Given the description of an element on the screen output the (x, y) to click on. 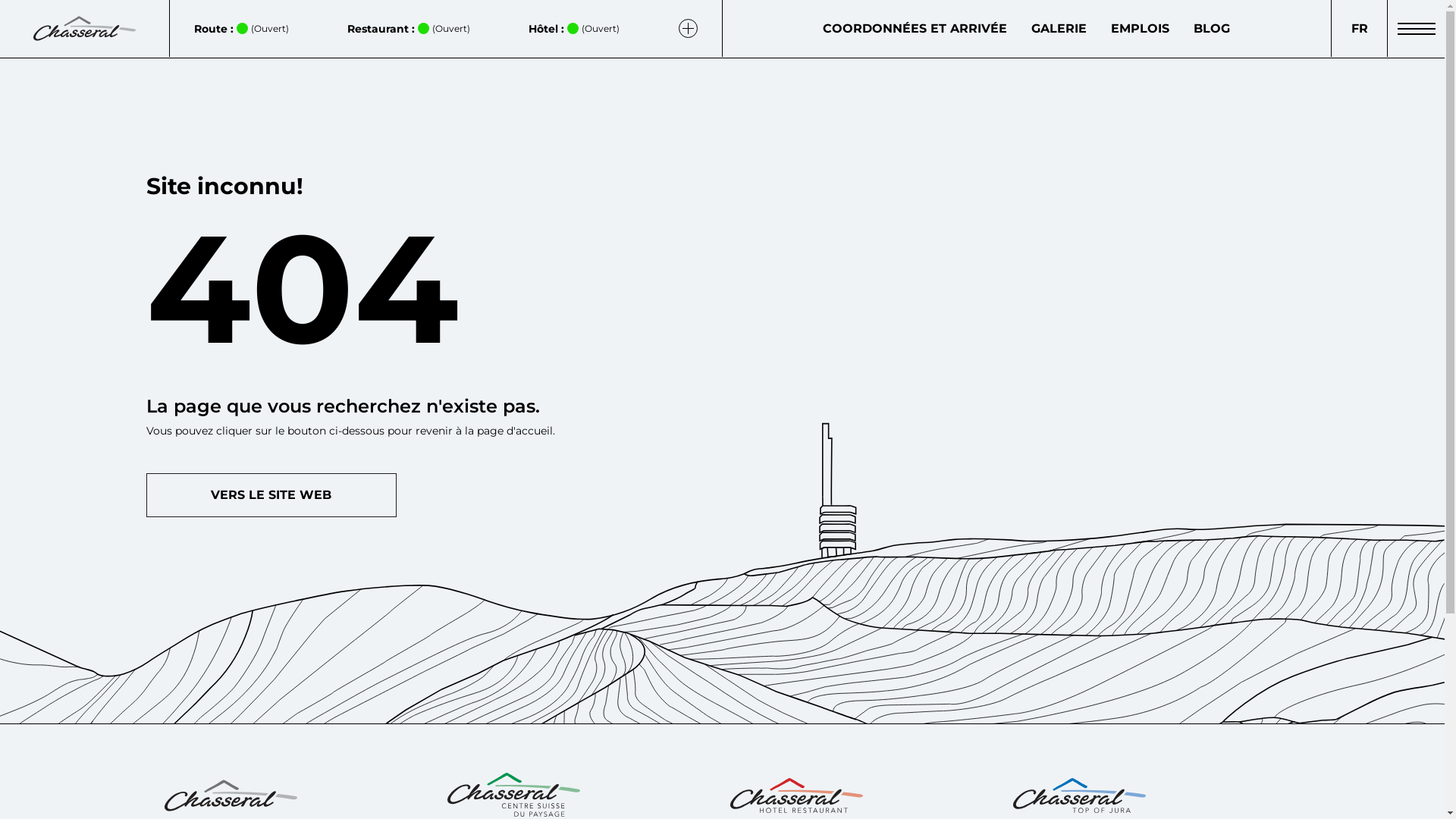
GALERIE Element type: text (1058, 28)
EMPLOIS Element type: text (1139, 28)
VERS LE SITE WEB Element type: text (270, 495)
BLOG Element type: text (1211, 28)
FR Element type: text (1358, 28)
